Given the description of an element on the screen output the (x, y) to click on. 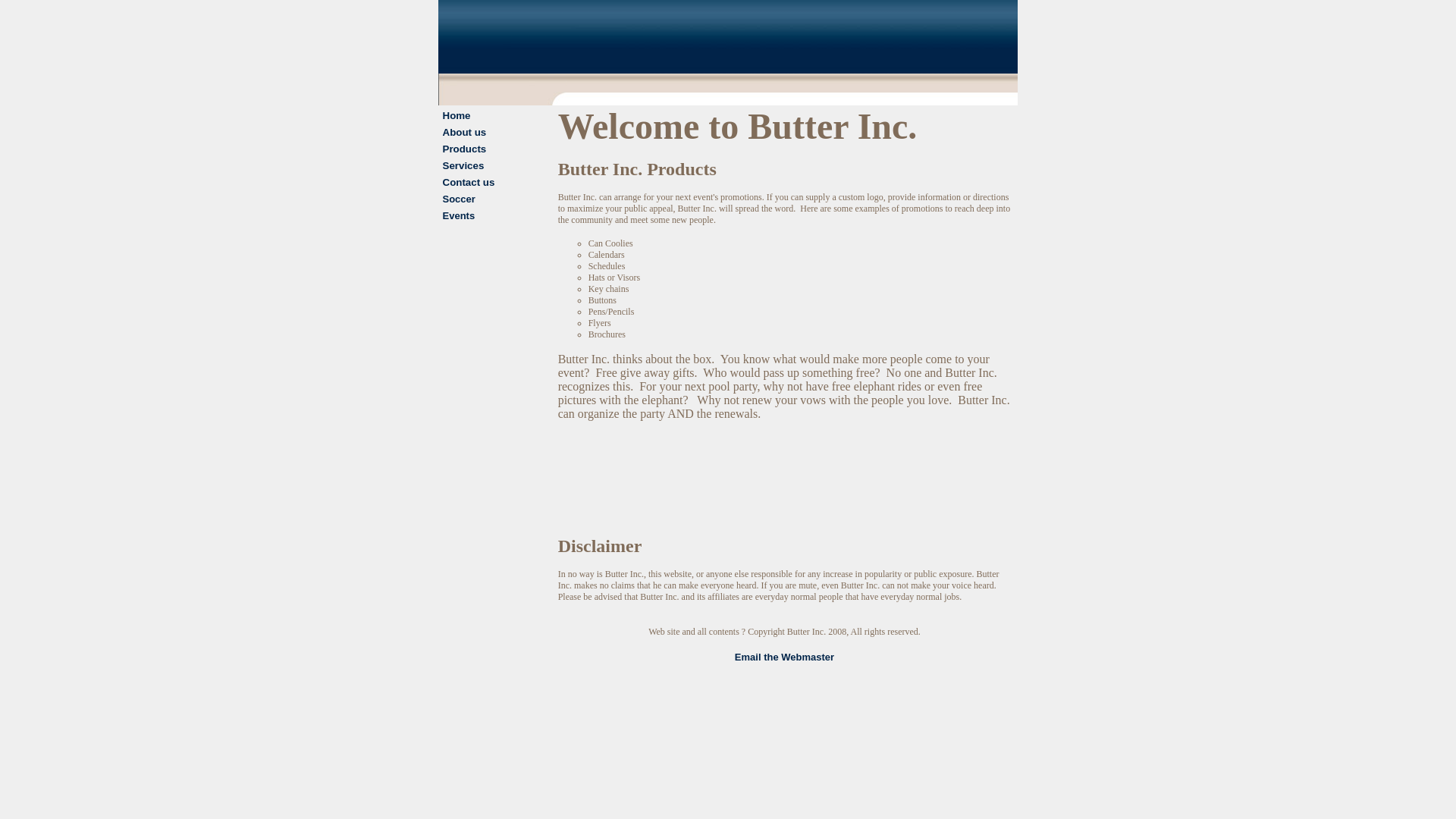
Services (463, 165)
Email the Webmaster (784, 656)
Contact us (468, 182)
About us (464, 132)
Soccer (459, 198)
Products (464, 148)
Events (459, 215)
Home (456, 115)
